Given the description of an element on the screen output the (x, y) to click on. 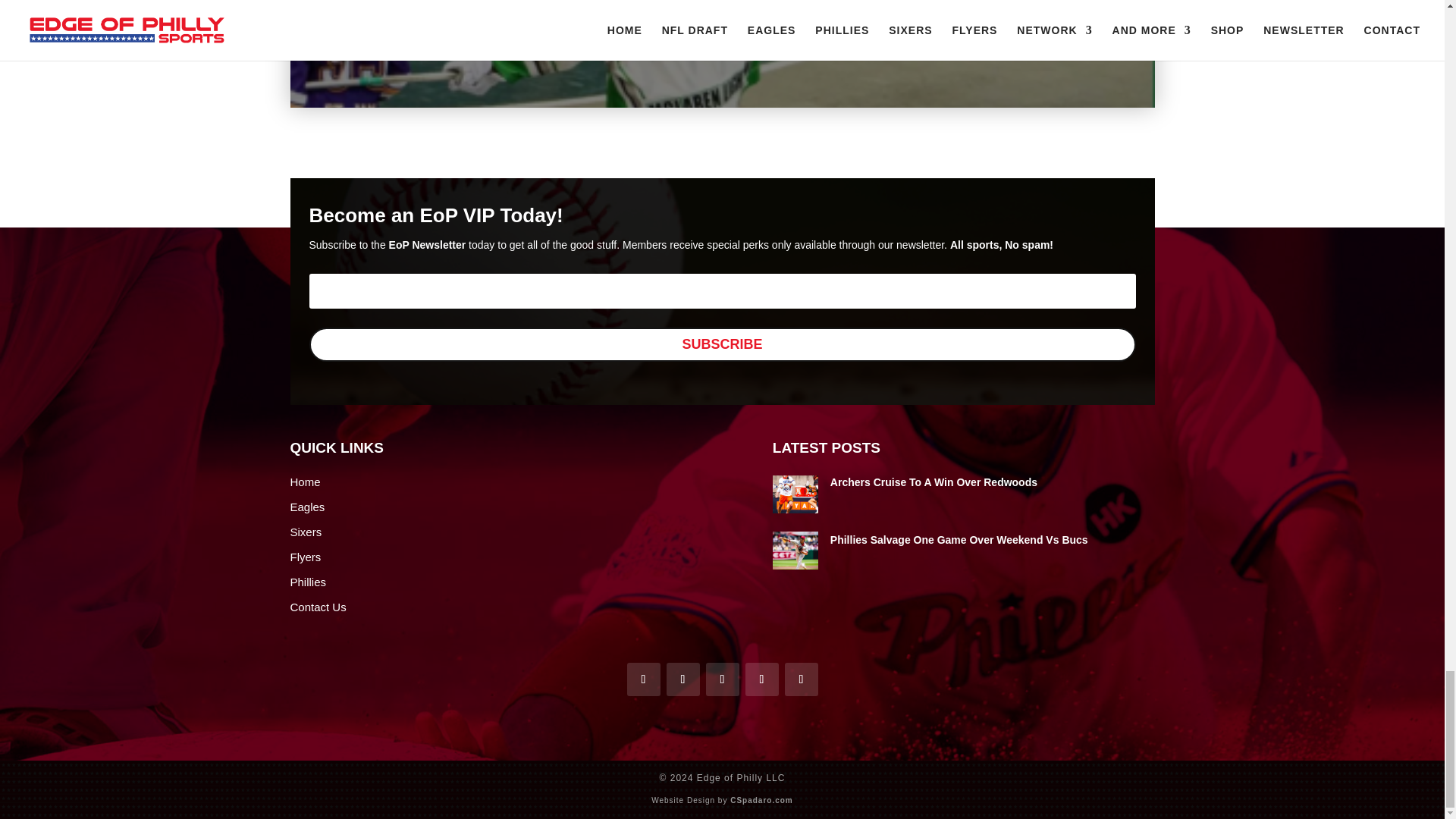
Follow on Twitter (681, 679)
Follow on Instagram (760, 679)
Follow on Youtube (721, 679)
Follow on Facebook (642, 679)
Follow on LinkedIn (800, 679)
Spadaro website (761, 800)
